Given the description of an element on the screen output the (x, y) to click on. 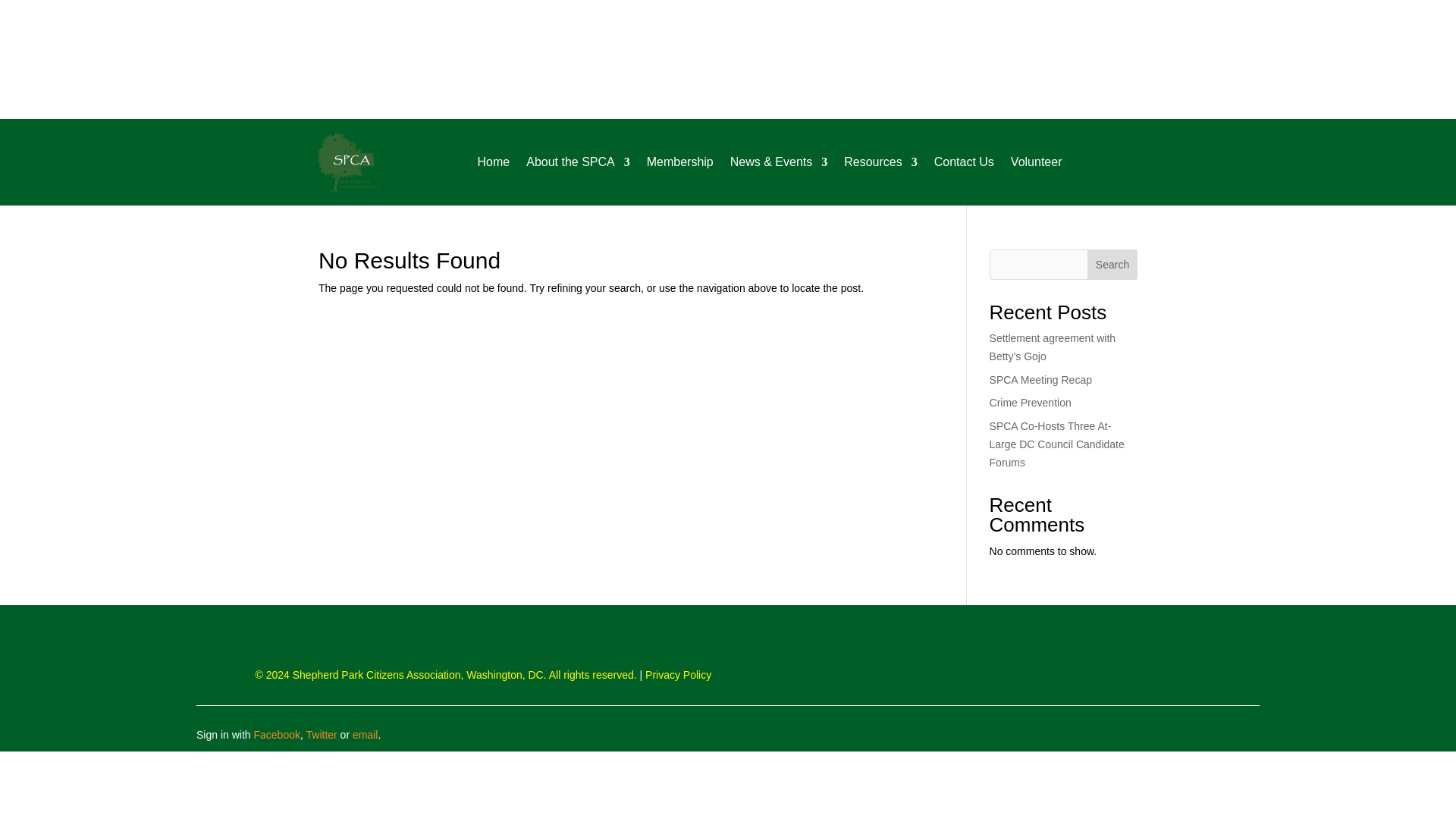
Contact Us (964, 161)
Search (1112, 264)
Twitter (321, 734)
Facebook (276, 734)
email (364, 734)
SPCA Meeting Recap (1041, 379)
Membership (679, 161)
Privacy Policy (678, 674)
SPCA Co-Hosts Three At-Large DC Council Candidate Forums (1057, 444)
Resources (880, 161)
Crime Prevention (1030, 402)
About the SPCA (577, 161)
